Given the description of an element on the screen output the (x, y) to click on. 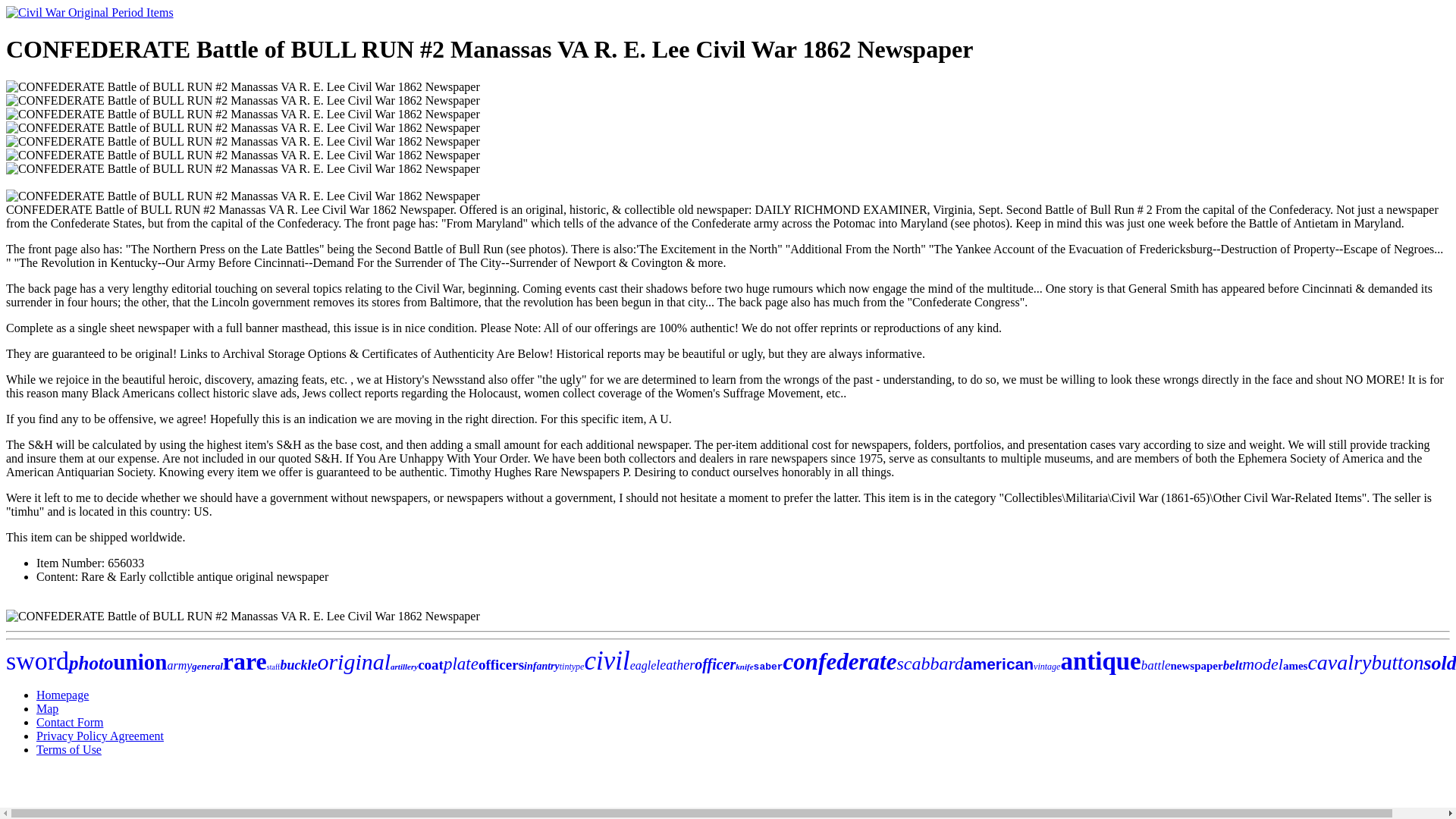
antique (1099, 660)
newspaper (1196, 665)
rare (244, 660)
coat (430, 664)
civil (605, 660)
saber (768, 666)
officer (714, 664)
union (140, 662)
confederate (839, 661)
buckle (298, 664)
officers (501, 664)
leather (675, 664)
battle (1155, 665)
sword (36, 660)
scabbard (929, 663)
